Given the description of an element on the screen output the (x, y) to click on. 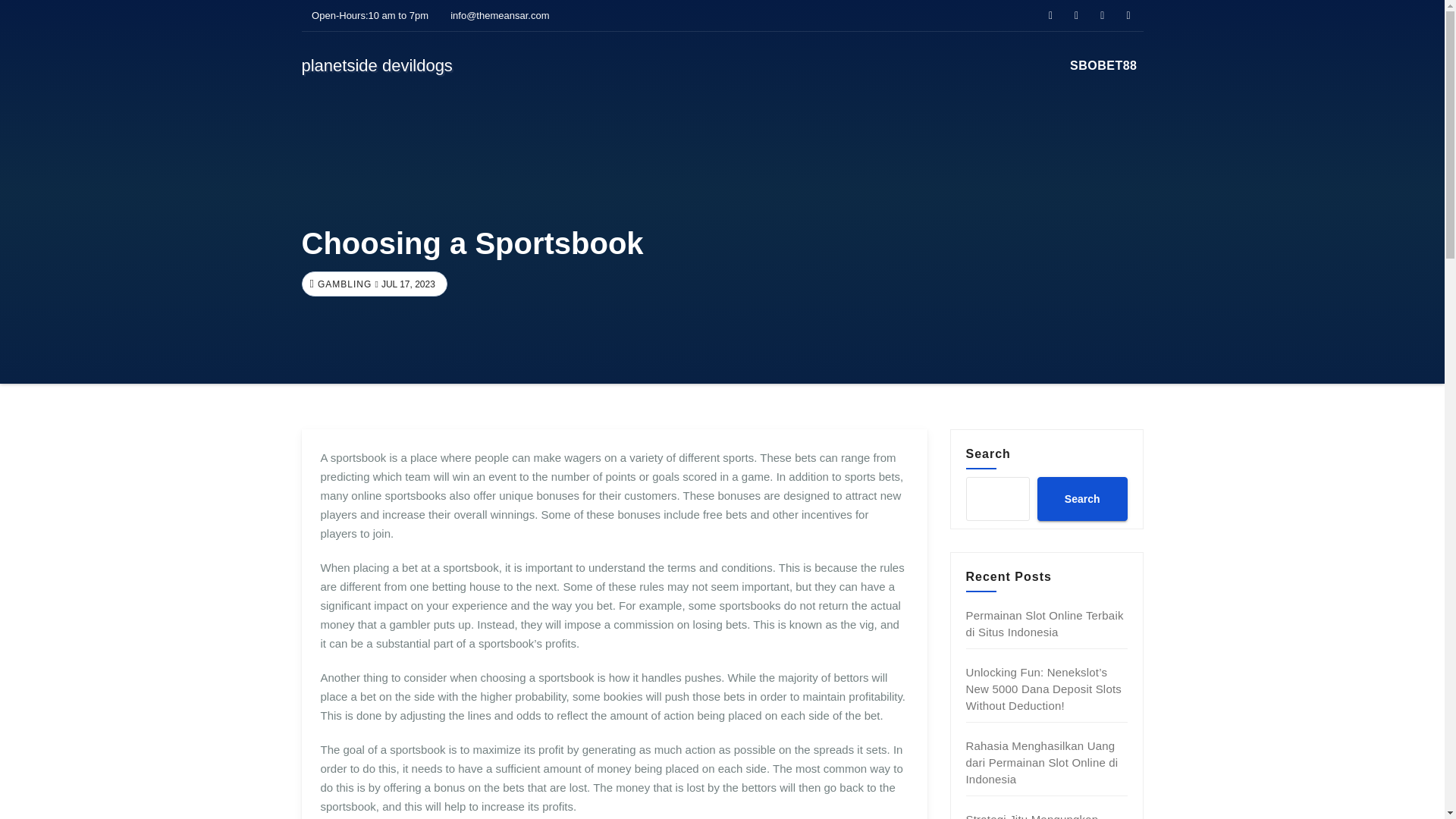
SBOBET88 (1103, 65)
Search (1081, 498)
planetside devildogs (376, 65)
Permainan Slot Online Terbaik di Situs Indonesia (1045, 623)
GAMBLING (342, 284)
SBOBET88 (1103, 65)
Open-Hours:10 am to 7pm (365, 15)
